Given the description of an element on the screen output the (x, y) to click on. 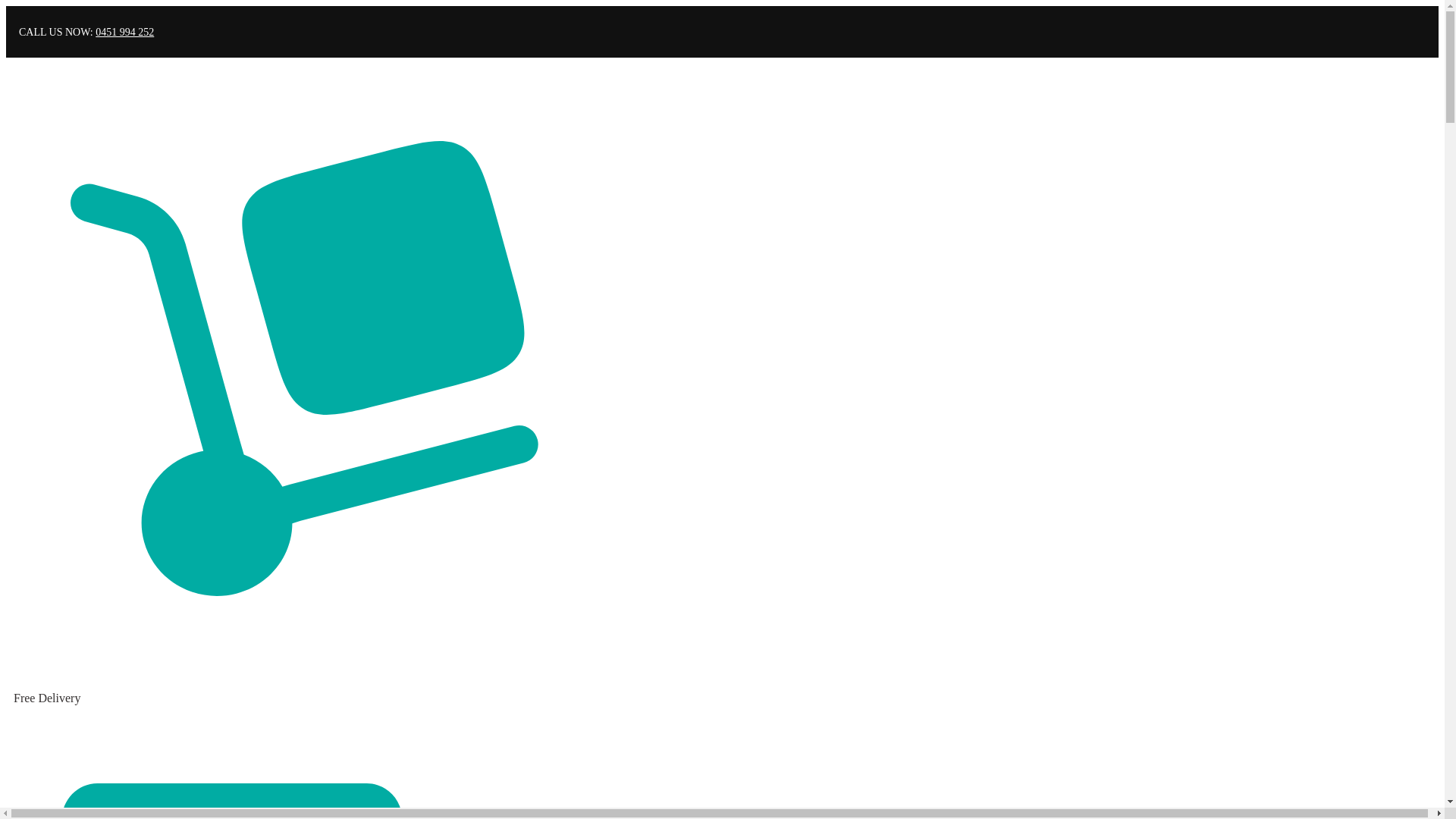
0451 994 252 Element type: text (124, 31)
